Given the description of an element on the screen output the (x, y) to click on. 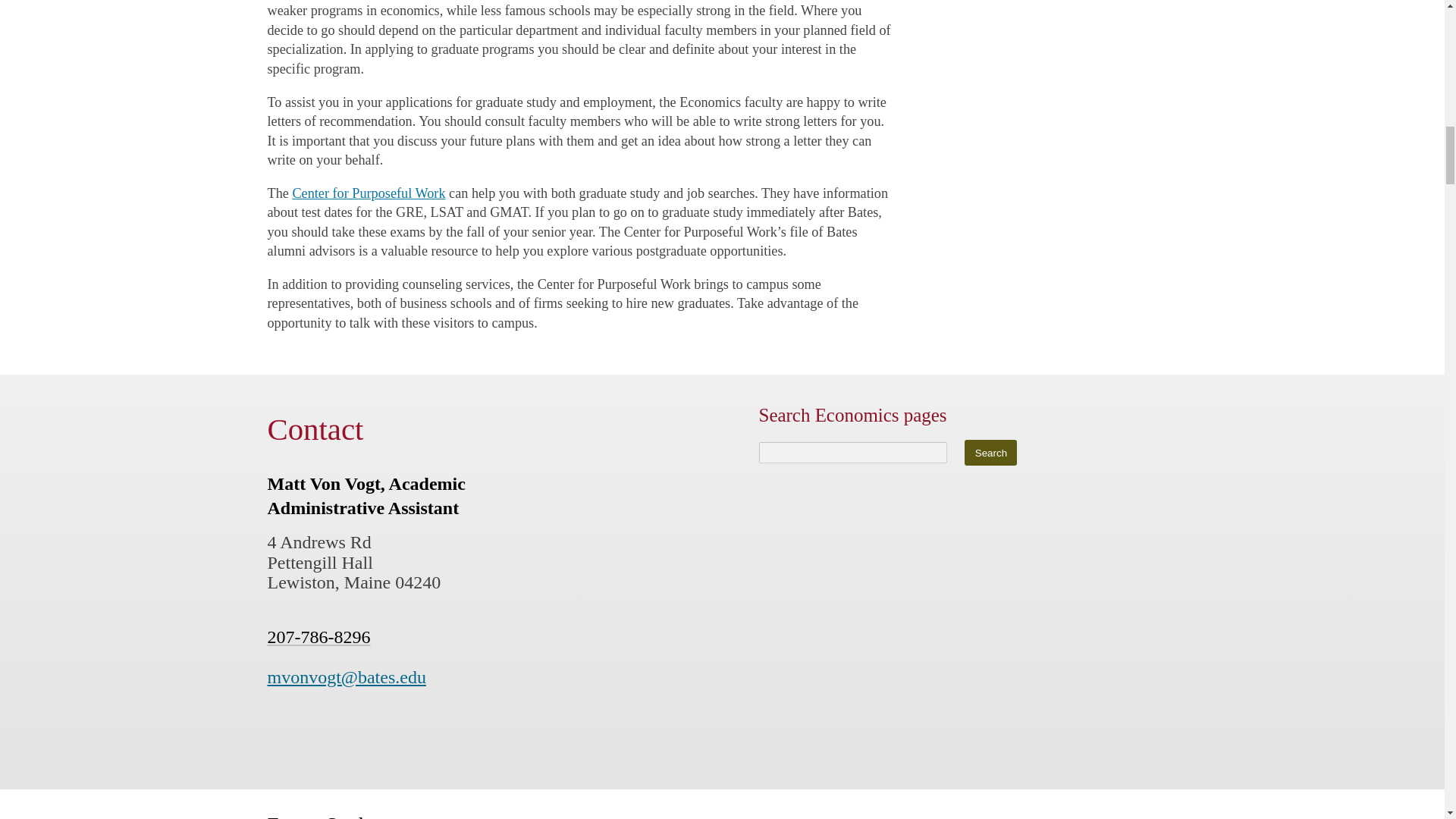
Search (989, 452)
